Given the description of an element on the screen output the (x, y) to click on. 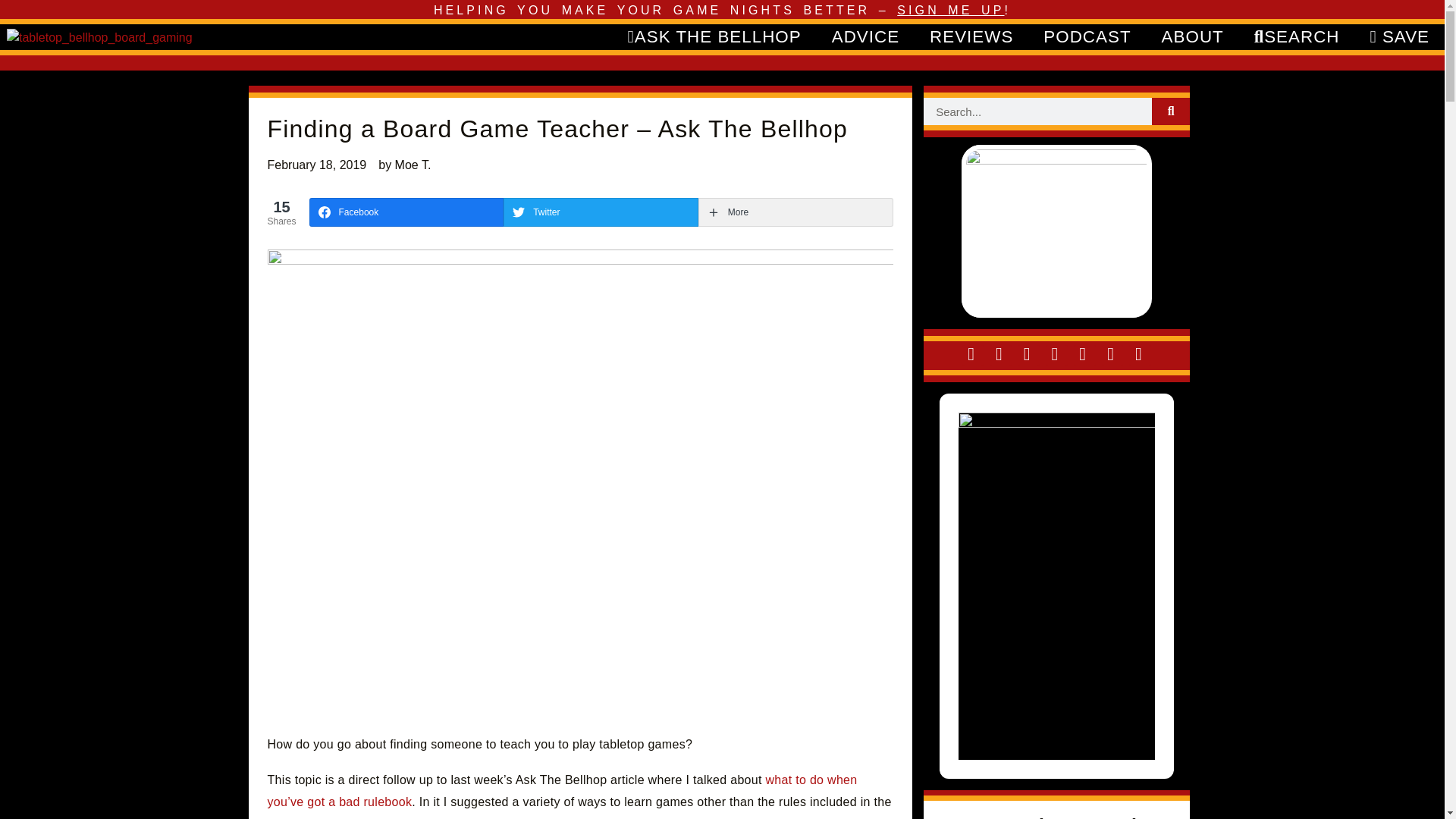
REVIEWS (970, 36)
SEARCH (1297, 36)
ABOUT (1193, 36)
PODCAST (1086, 36)
ADVICE (865, 36)
SIGN ME UP! (953, 10)
ASK THE BELLHOP (714, 36)
